Given the description of an element on the screen output the (x, y) to click on. 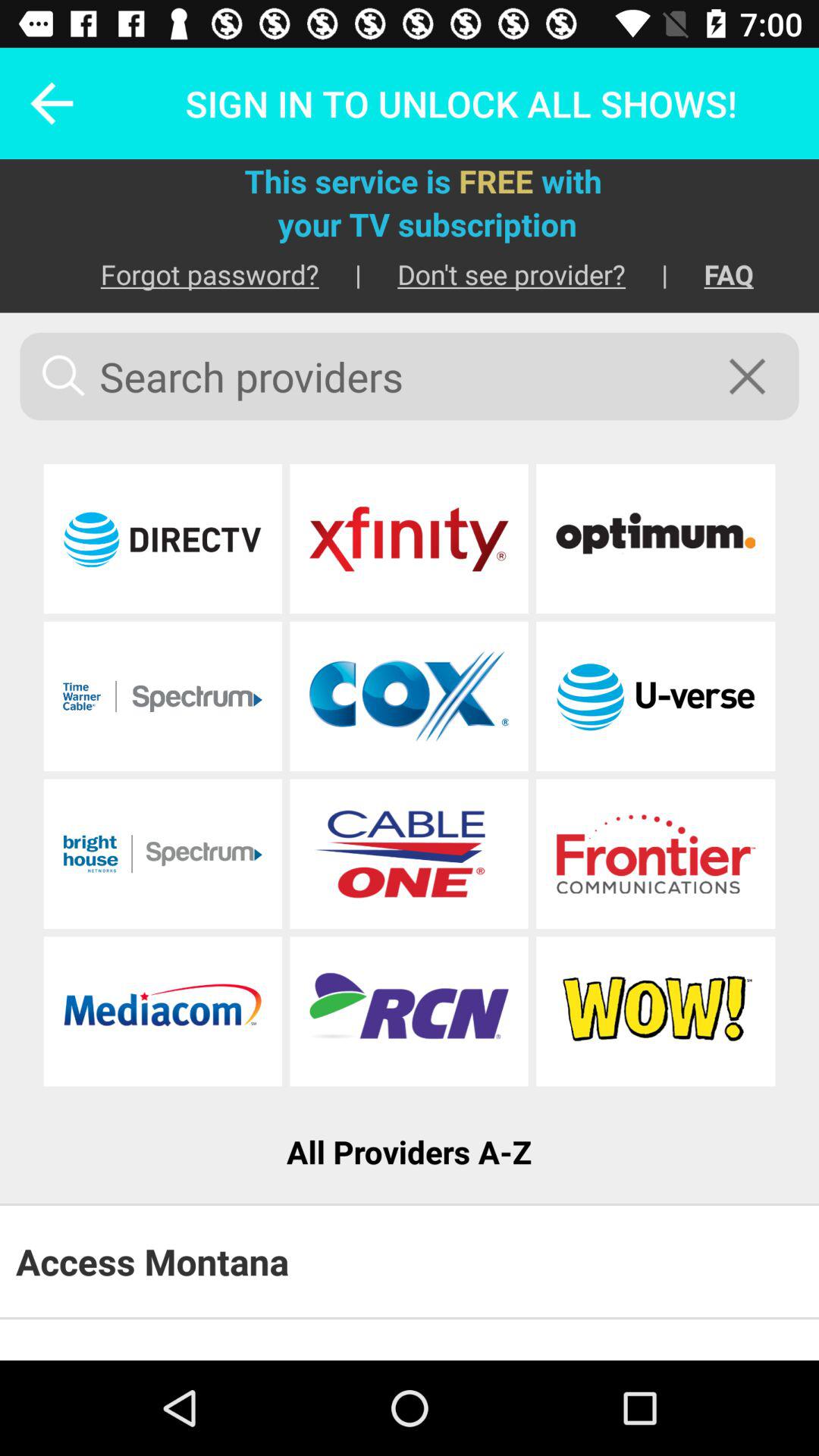
choose the icon below your tv subscription item (493, 273)
